Given the description of an element on the screen output the (x, y) to click on. 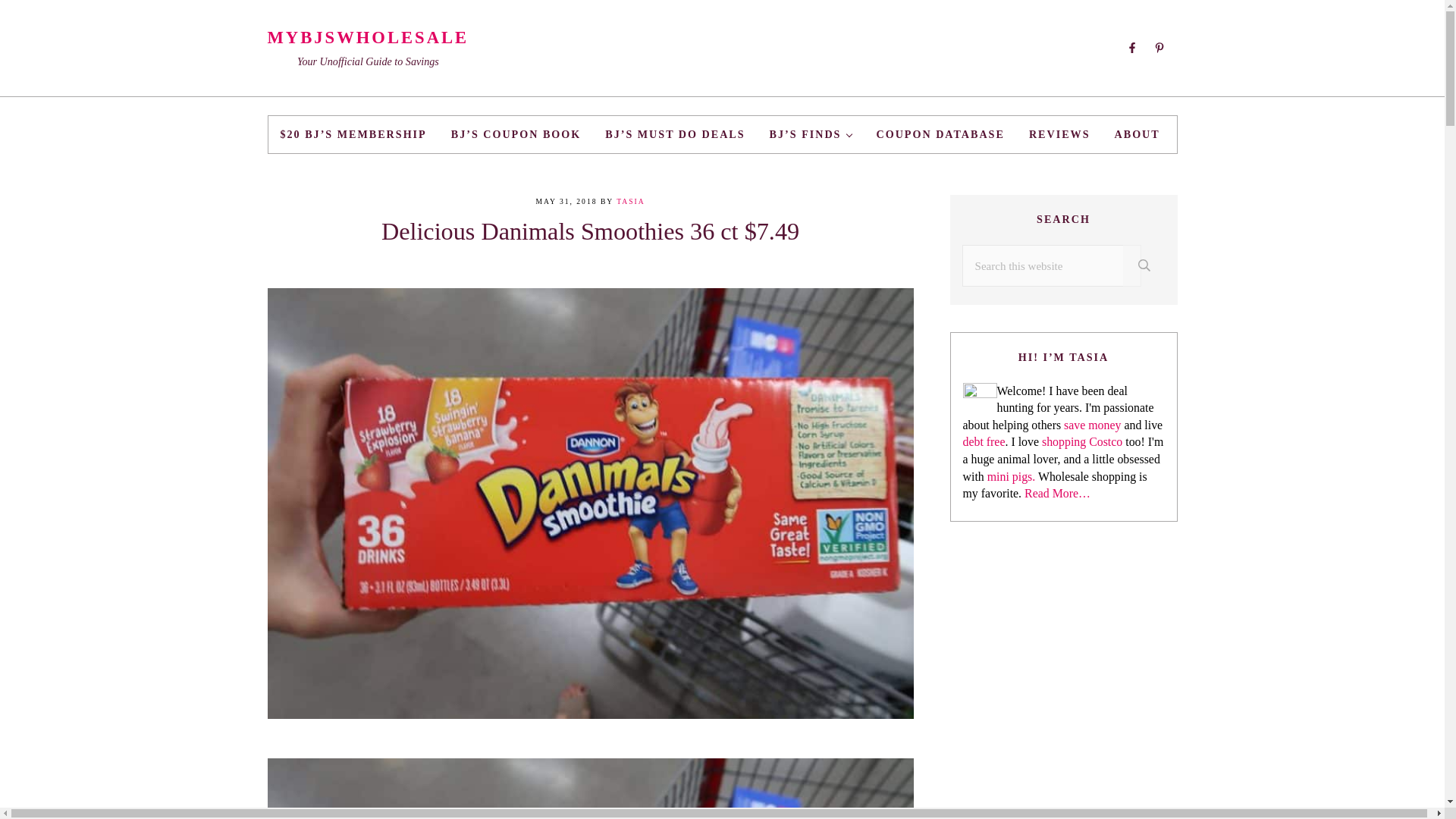
MYBJSWHOLESALE (367, 36)
mybjswholesale-dannon-danimals-yogurt (589, 788)
